Given the description of an element on the screen output the (x, y) to click on. 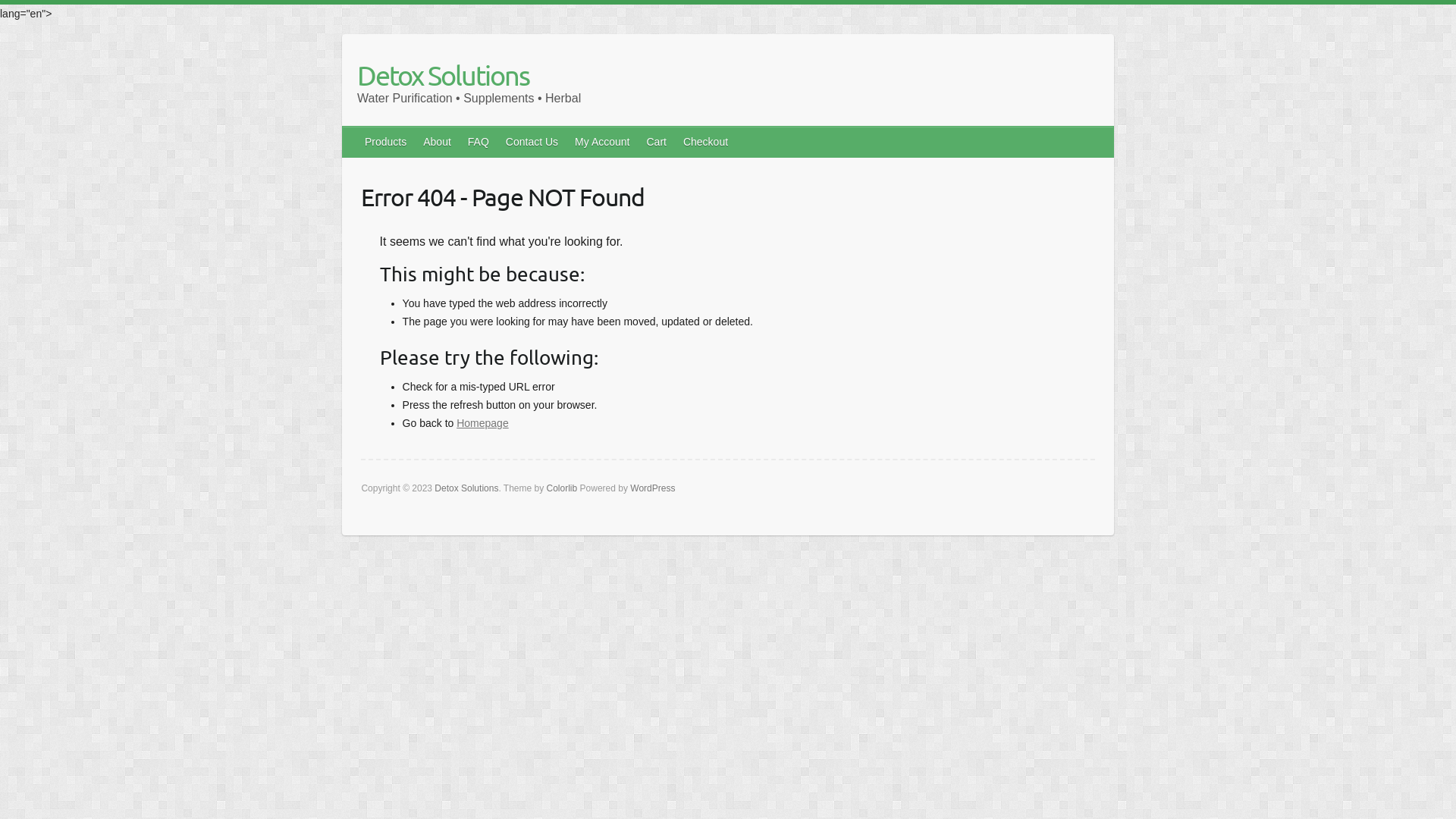
About Element type: text (437, 141)
Detox Solutions Element type: text (468, 75)
Colorlib Element type: text (561, 488)
WordPress Element type: text (652, 488)
Detox Solutions Element type: text (466, 488)
Contact Us Element type: text (532, 141)
FAQ Element type: text (479, 141)
Checkout Element type: text (706, 141)
My Account Element type: text (602, 141)
Homepage Element type: text (482, 423)
Cart Element type: text (656, 141)
Skip to content Element type: text (50, 3)
Products Element type: text (386, 141)
